Given the description of an element on the screen output the (x, y) to click on. 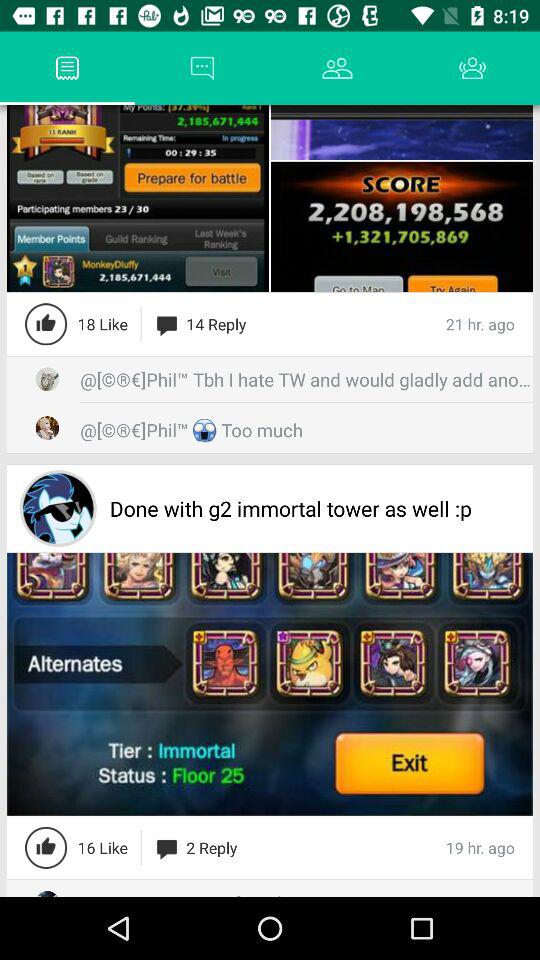
like the content (46, 324)
